Given the description of an element on the screen output the (x, y) to click on. 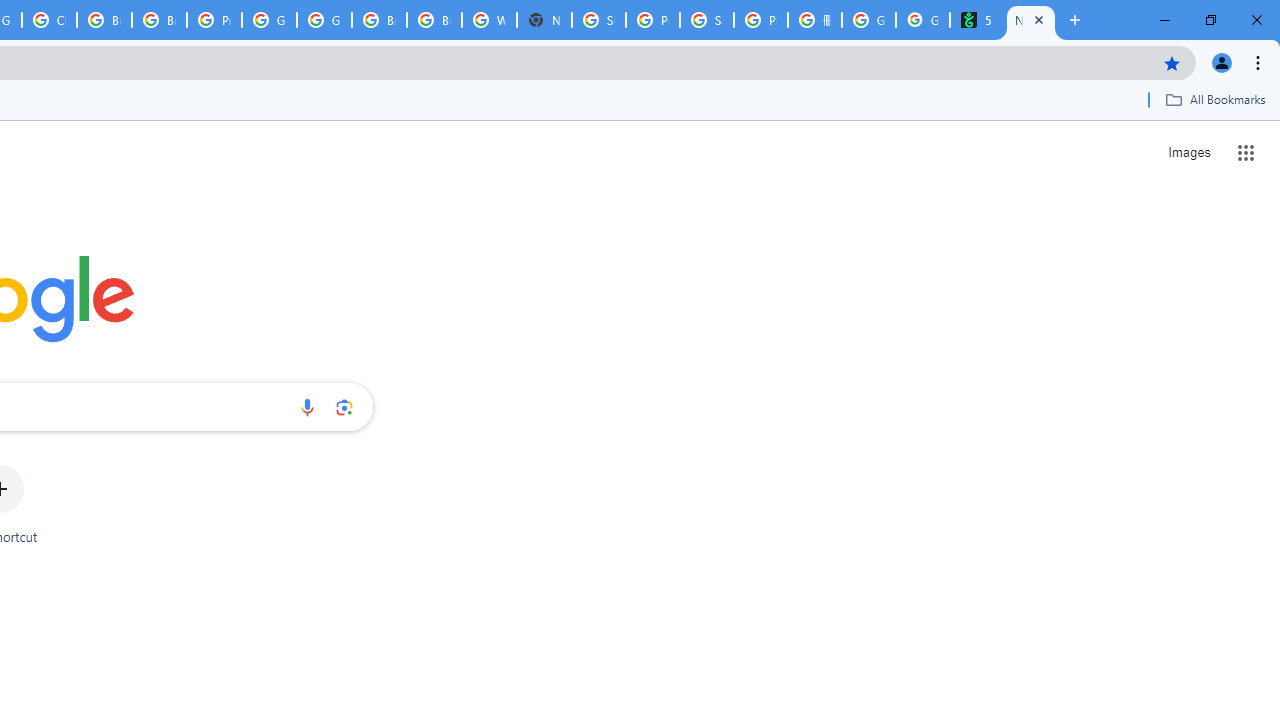
Browse Chrome as a guest - Computer - Google Chrome Help (103, 20)
